Given the description of an element on the screen output the (x, y) to click on. 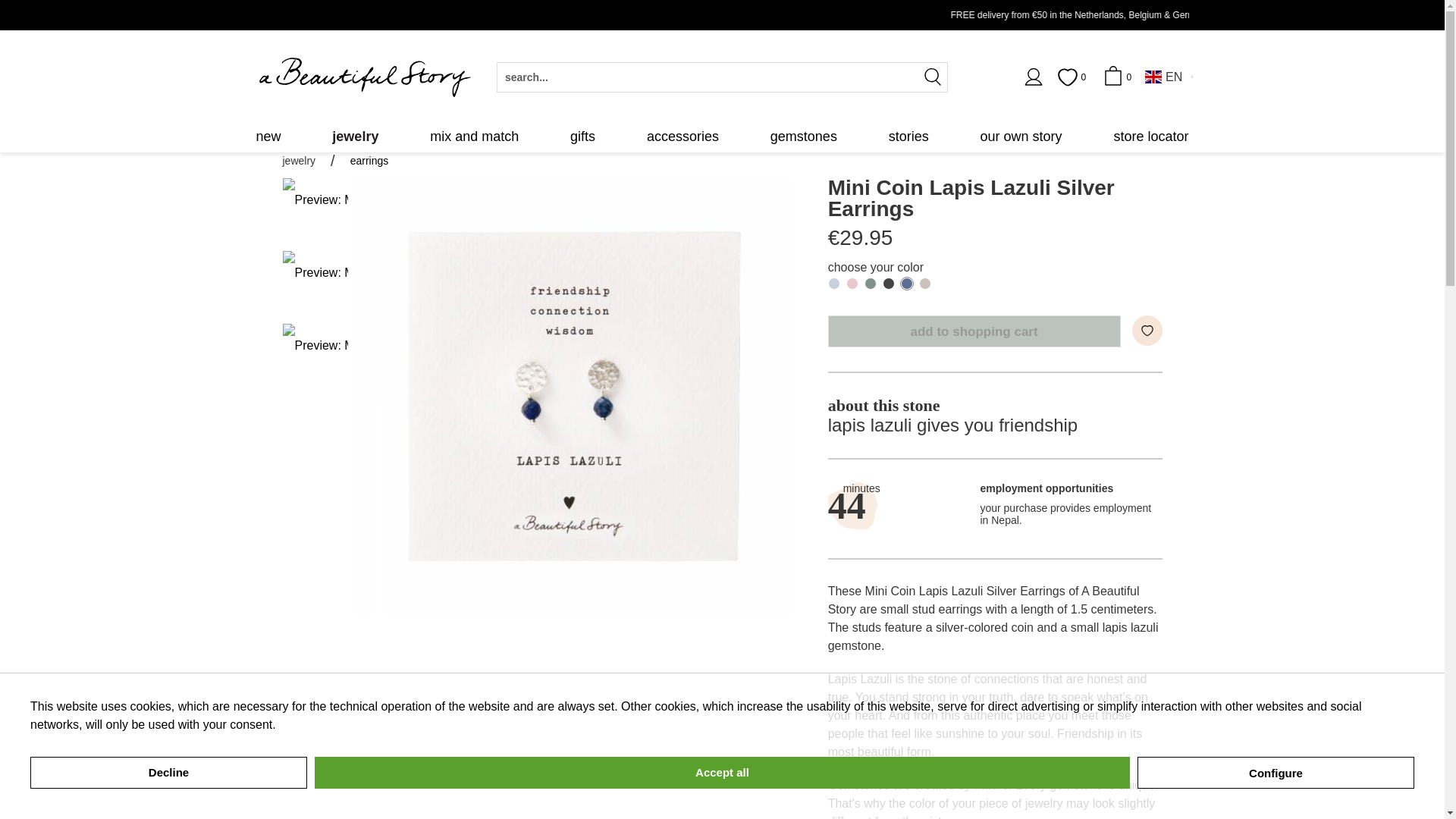
gemstones (803, 136)
mix and match (474, 136)
store locator (1150, 136)
store locator (1150, 136)
stories (908, 136)
new (268, 136)
gifts (583, 136)
jewelry (355, 136)
0 (1073, 77)
gifts (583, 136)
jewelry (355, 136)
accessories (682, 136)
mix and match (474, 136)
